Given the description of an element on the screen output the (x, y) to click on. 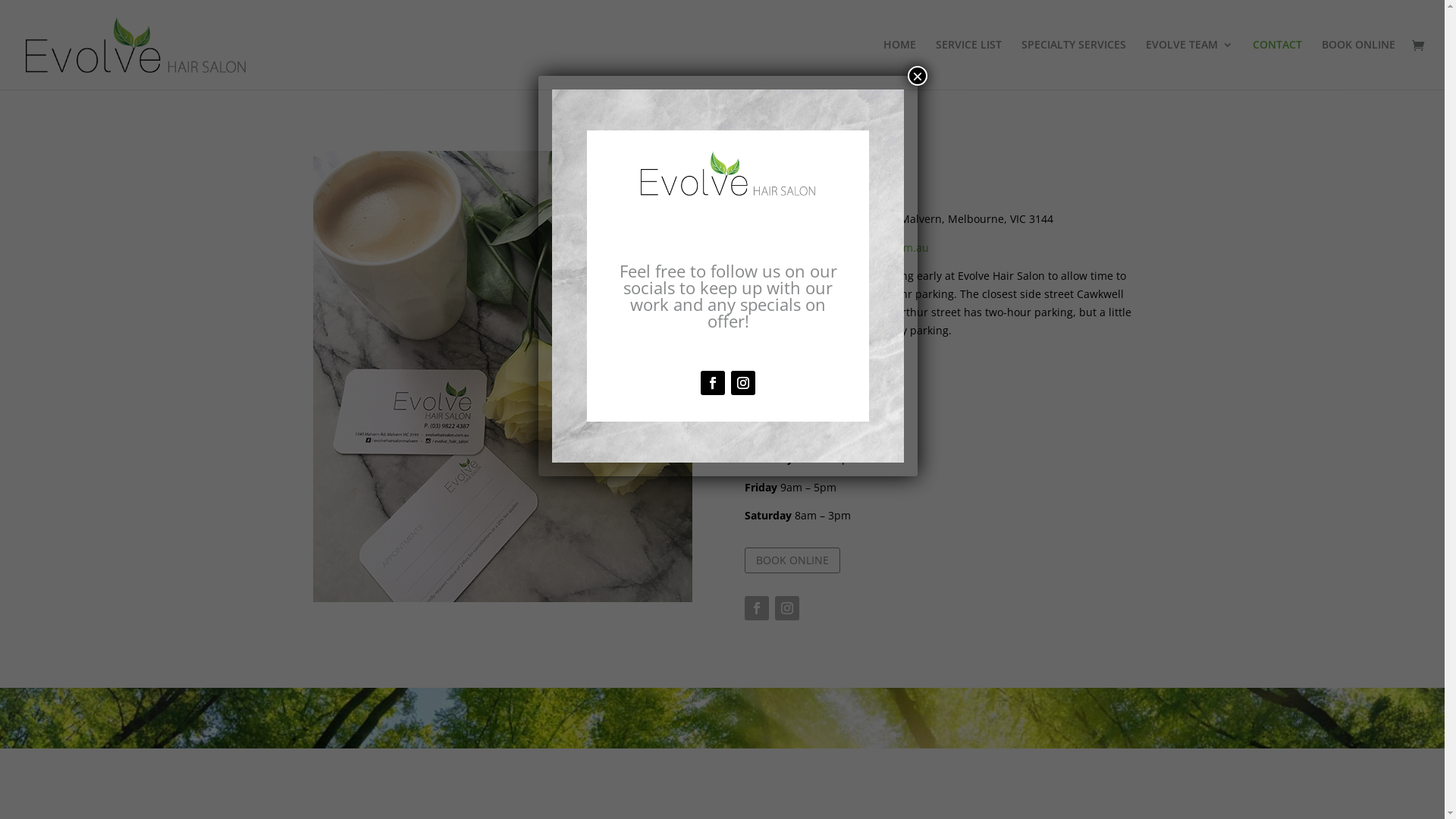
BOOK ONLINE Element type: text (1358, 64)
Follow on Instagram Element type: hover (743, 382)
Follow on Instagram Element type: hover (787, 608)
EVOLVE TEAM Element type: text (1189, 64)
SERVICE LIST Element type: text (968, 64)
HOME Element type: text (899, 64)
BOOK ONLINE Element type: text (792, 560)
CONTACT Element type: text (1277, 64)
SPECIALTY SERVICES Element type: text (1073, 64)
Follow on Facebook Element type: hover (712, 382)
Follow on Facebook Element type: hover (756, 608)
info@evolvehairsalon.com.au Element type: text (853, 247)
